Given the description of an element on the screen output the (x, y) to click on. 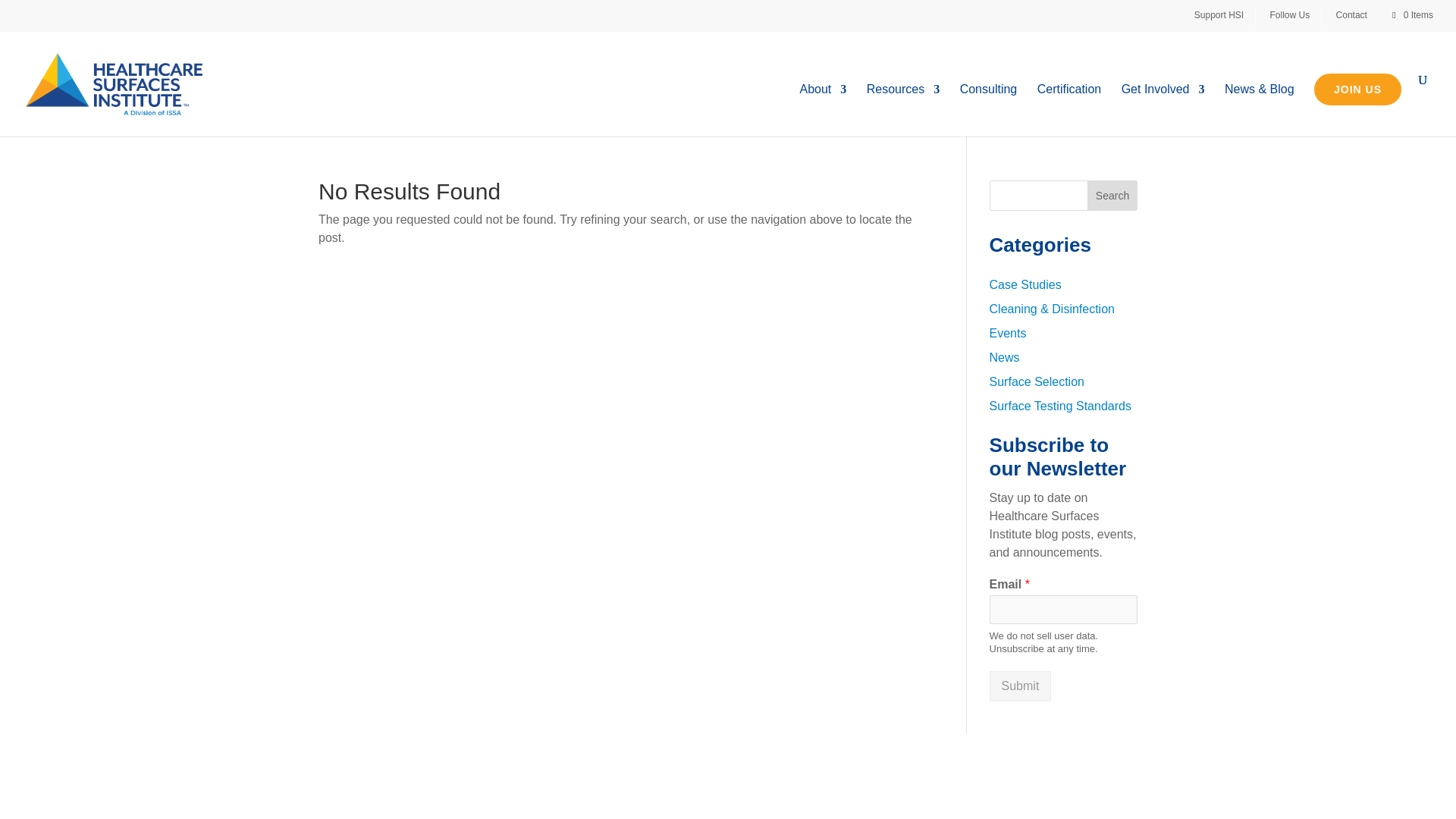
JOIN US (1357, 89)
Consulting (988, 110)
Support HSI (1224, 16)
Certification (1068, 110)
Follow Us (1295, 16)
About (822, 110)
Search (1112, 195)
Resources (902, 110)
Get Involved (1163, 110)
Contact (1357, 16)
0 Items (1411, 14)
